Given the description of an element on the screen output the (x, y) to click on. 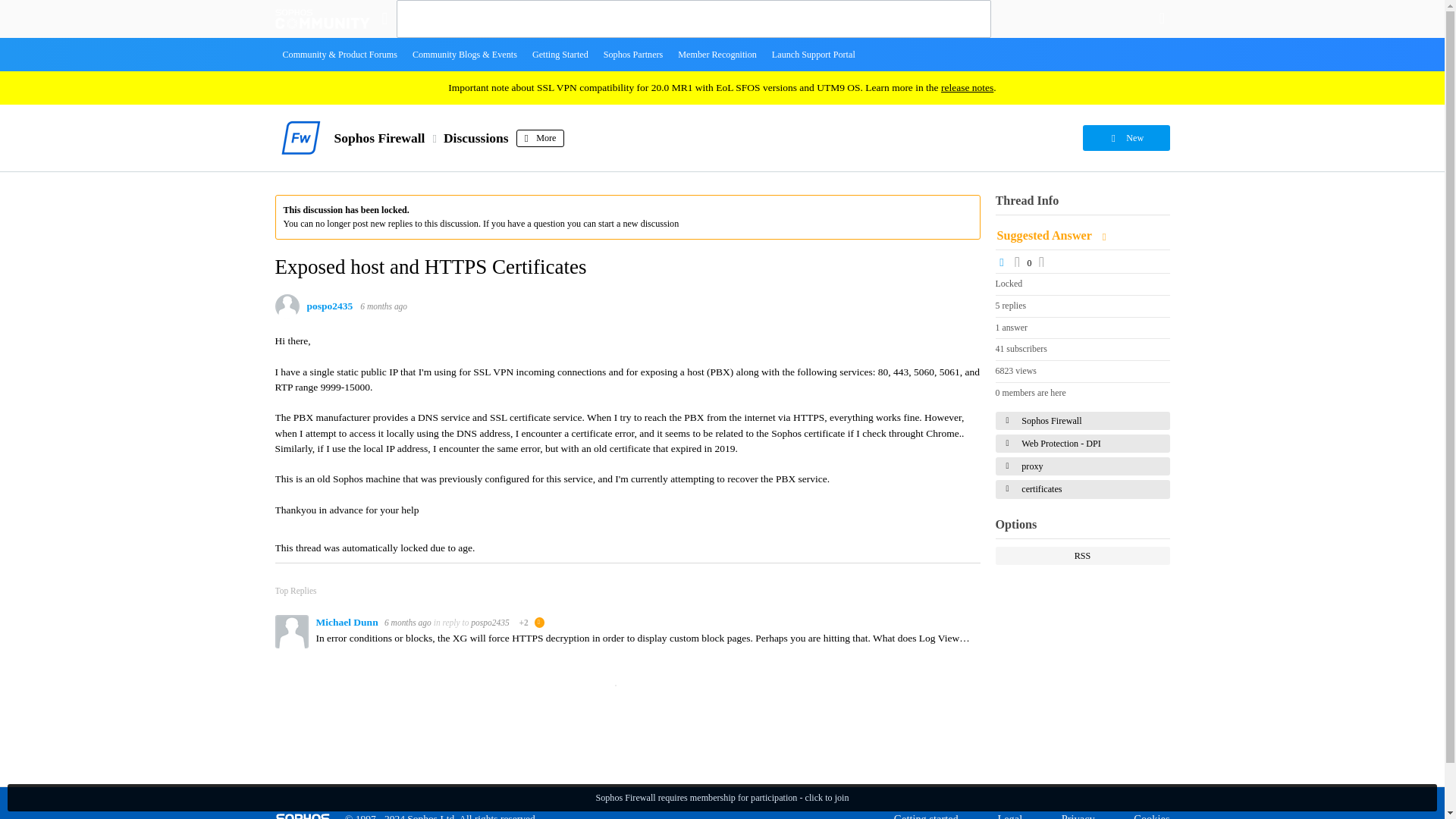
Discussions (476, 137)
Getting Started (559, 54)
release notes (966, 87)
Launch Support Portal (813, 54)
Site (384, 18)
Sophos Firewall (379, 137)
Sophos Partners (633, 54)
Groups (384, 18)
Member Recognition (716, 54)
Join or sign in (1161, 17)
